Given the description of an element on the screen output the (x, y) to click on. 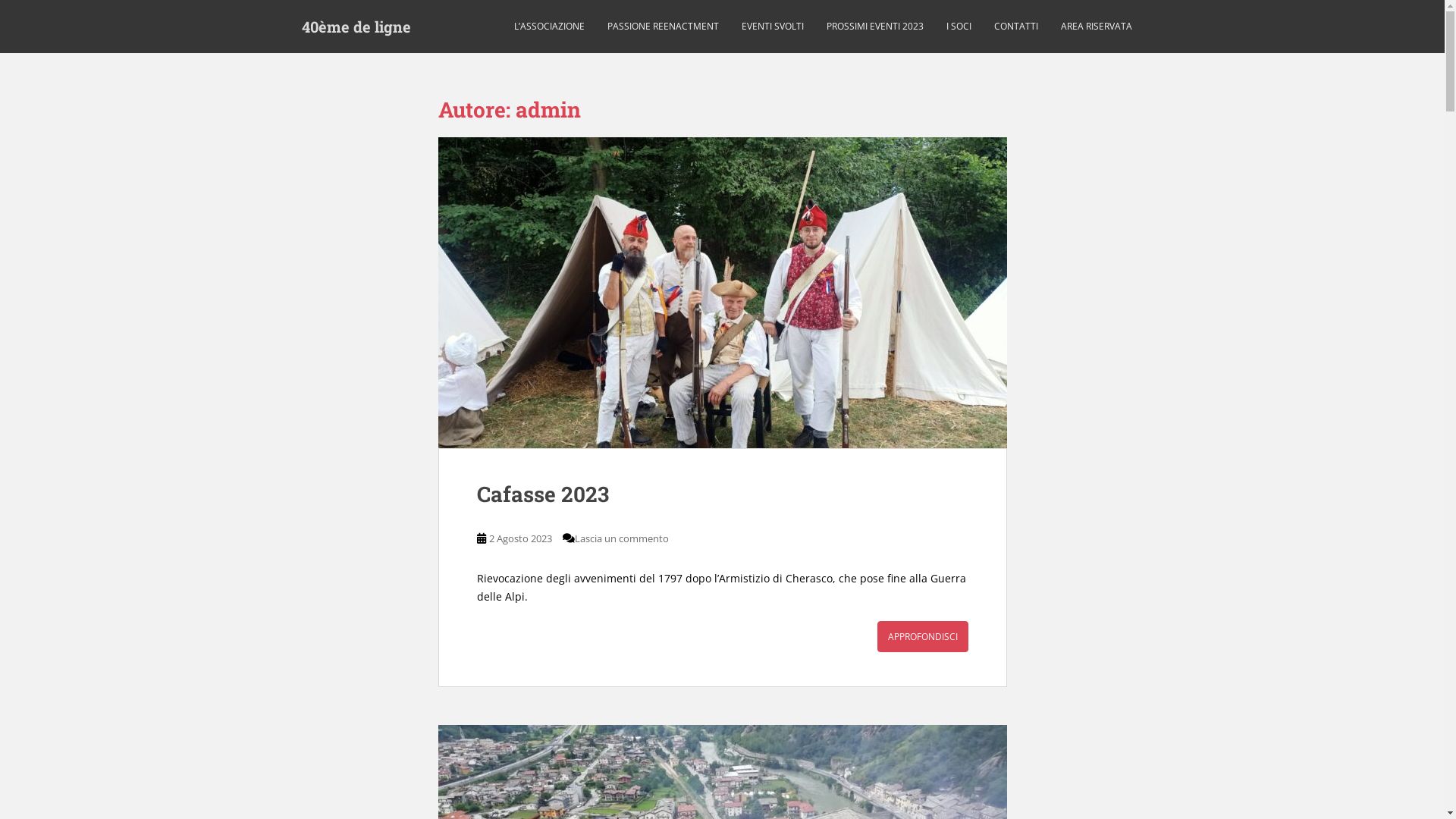
PROSSIMI EVENTI 2023 Element type: text (874, 26)
PASSIONE REENACTMENT Element type: text (662, 26)
AREA RISERVATA Element type: text (1095, 26)
I SOCI Element type: text (958, 26)
Cafasse 2023 Element type: hover (722, 292)
APPROFONDISCI Element type: text (921, 636)
Cafasse 2023 Element type: text (542, 494)
Lascia un commento Element type: text (621, 538)
2 Agosto 2023 Element type: text (519, 538)
EVENTI SVOLTI Element type: text (772, 26)
CONTATTI Element type: text (1015, 26)
